Given the description of an element on the screen output the (x, y) to click on. 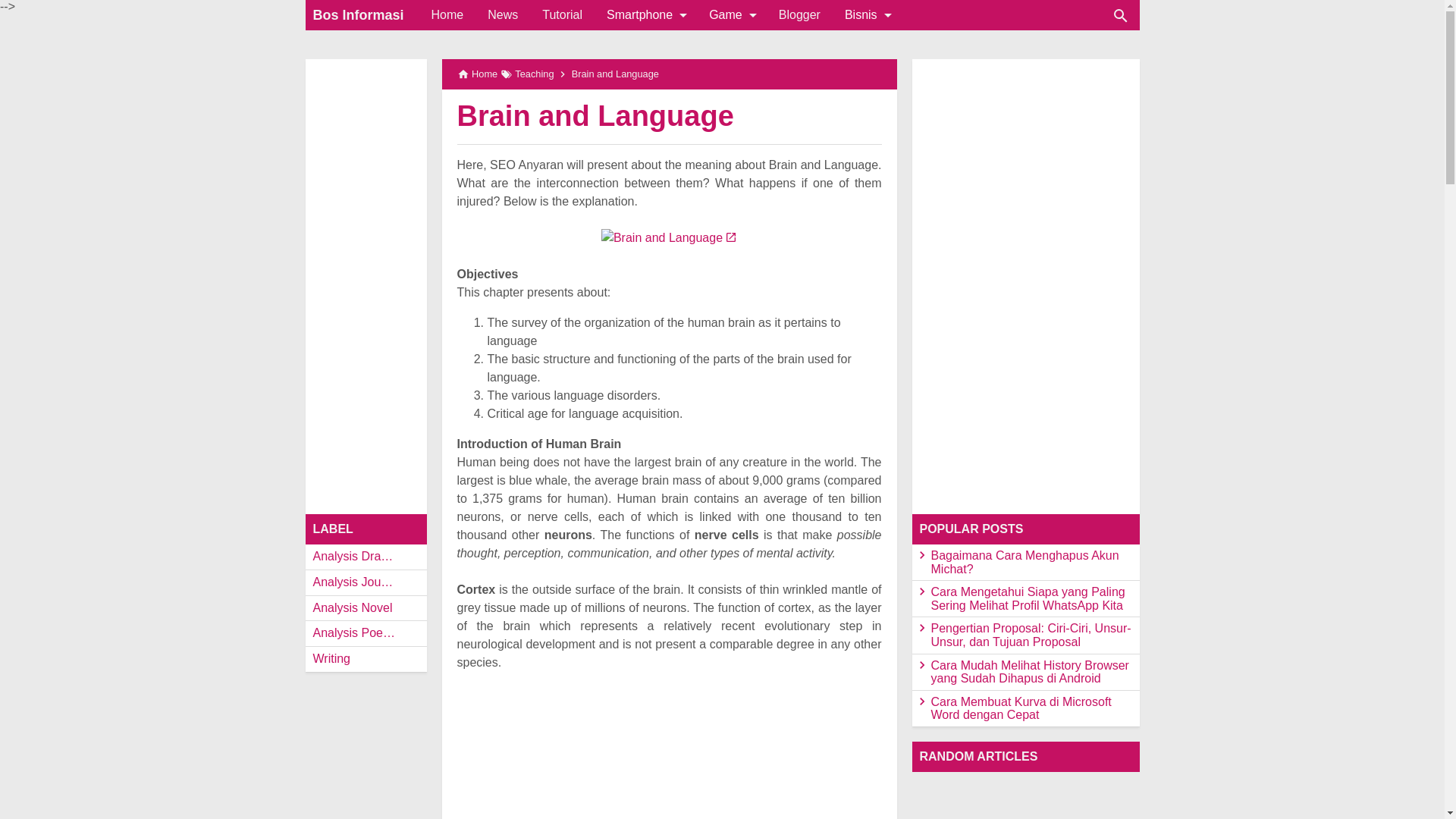
Advertisement (668, 762)
Brain and Language (595, 115)
Home (447, 15)
Smartphone (645, 15)
Bisnis (866, 15)
Analysis Poems (365, 633)
Teaching (534, 73)
Bagaimana Cara Menghapus Akun Michat? (1024, 561)
Brain and Language (595, 115)
Writing (365, 659)
